Given the description of an element on the screen output the (x, y) to click on. 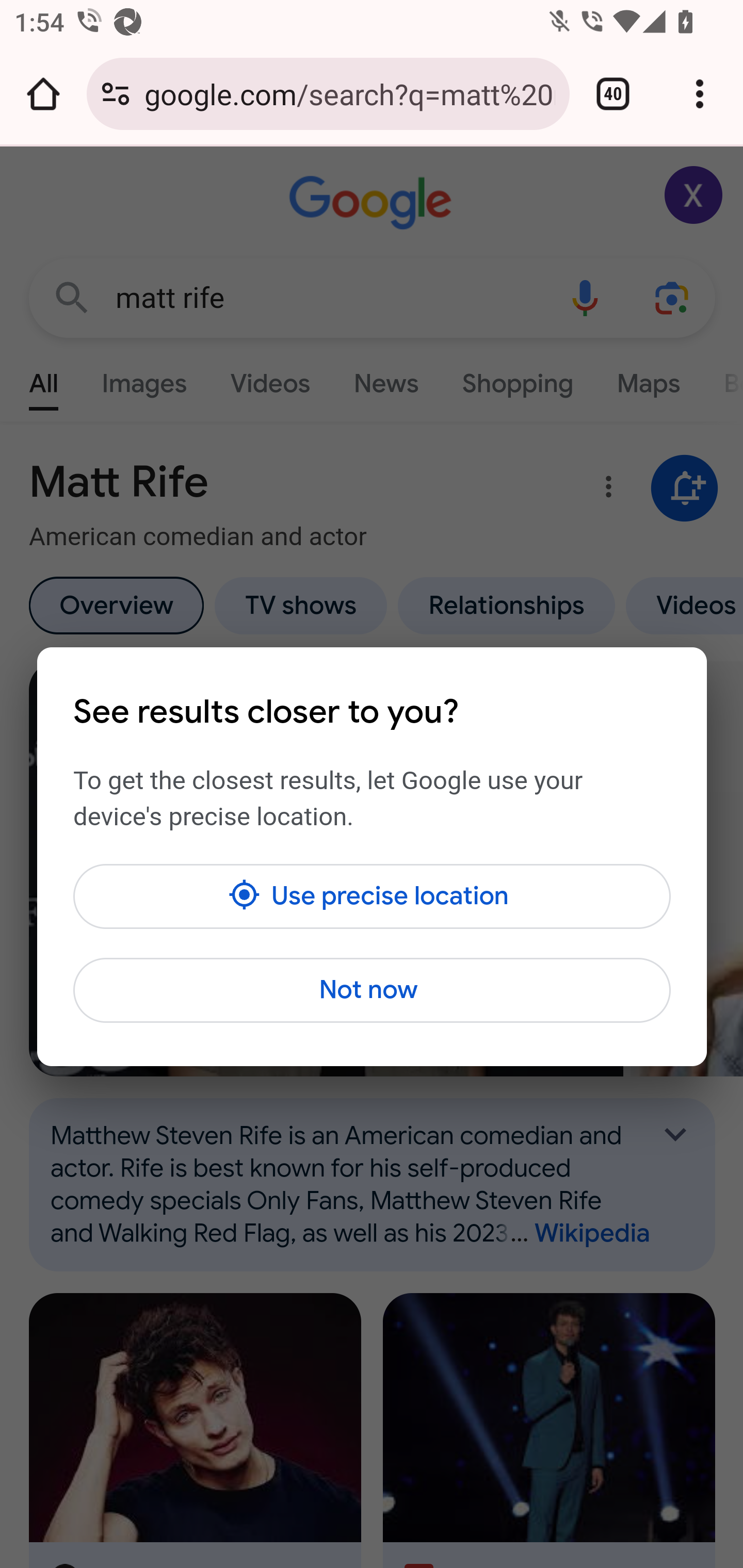
Open the home page (43, 93)
Connection is secure (115, 93)
Switch or close tabs (612, 93)
Customize and control Google Chrome (699, 93)
Use precise location (371, 895)
Not now (371, 989)
